Given the description of an element on the screen output the (x, y) to click on. 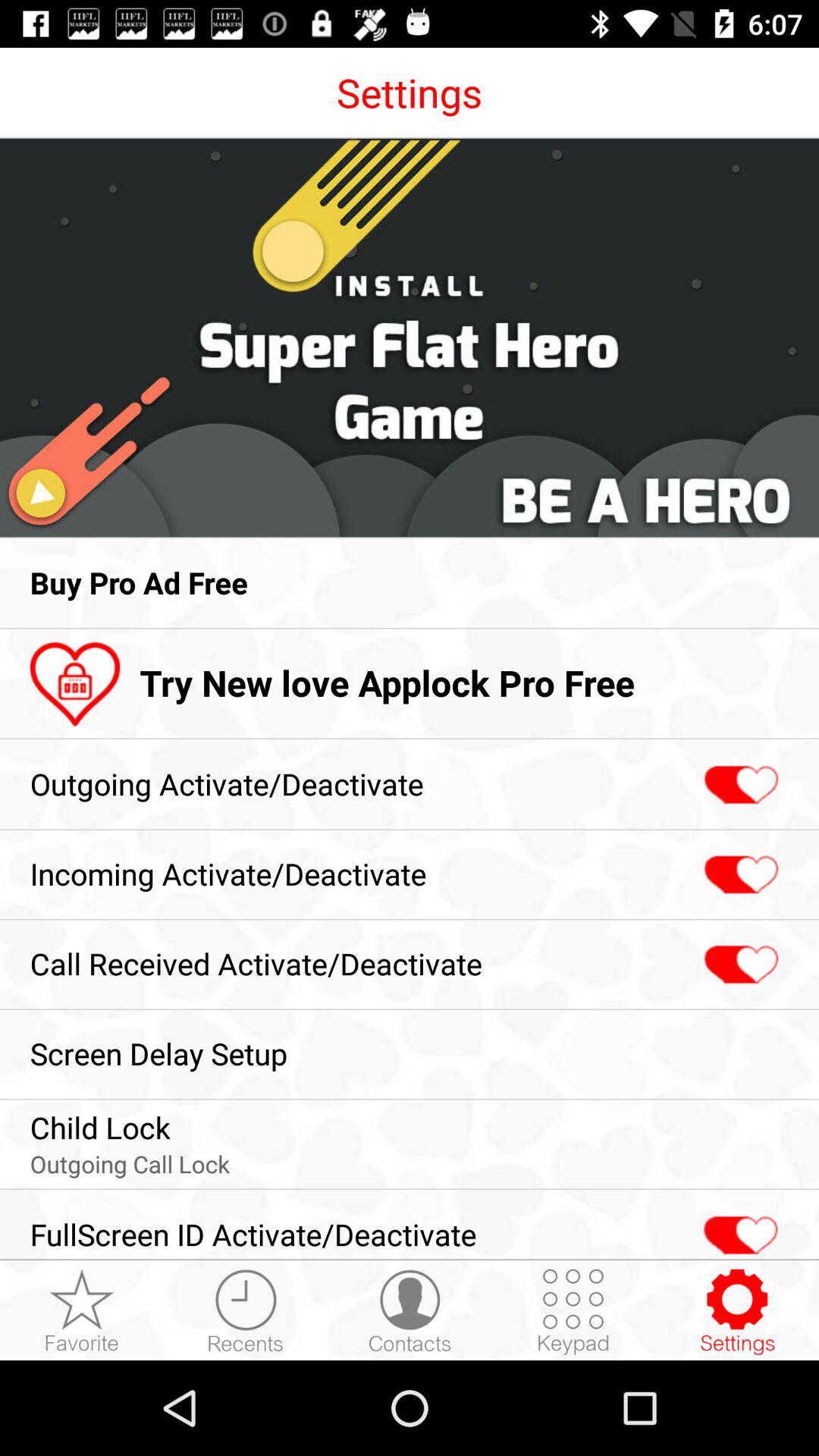
tap the icon next to outgoing activate/deactivate icon (739, 785)
